Given the description of an element on the screen output the (x, y) to click on. 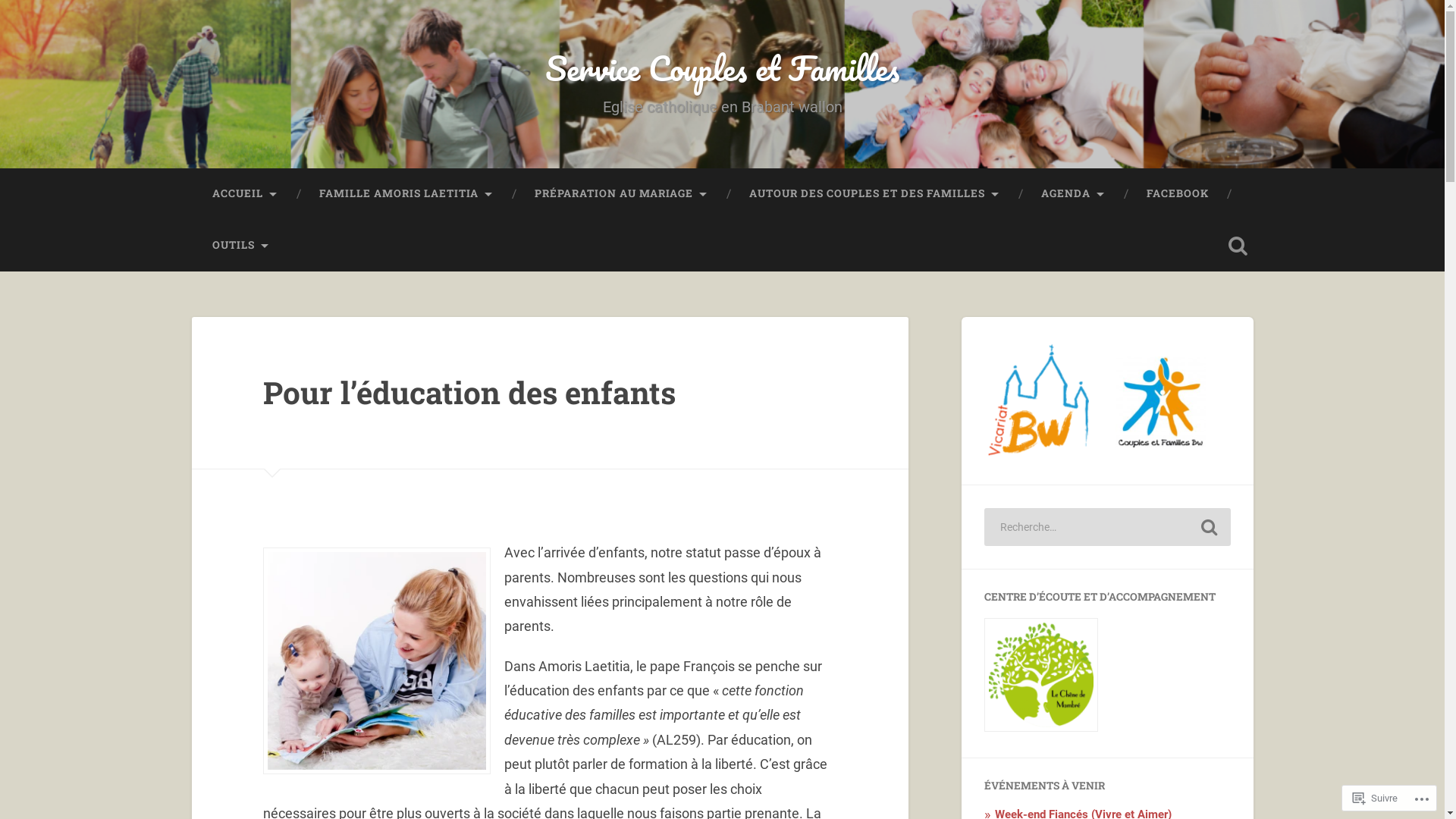
AGENDA Element type: text (1073, 193)
ACCUEIL Element type: text (244, 193)
FAMILLE AMORIS LAETITIA Element type: text (406, 193)
OUTILS Element type: text (240, 245)
Ouvrir la recherche Element type: text (1237, 245)
Rechercher Element type: text (1208, 526)
AUTOUR DES COUPLES ET DES FAMILLES Element type: text (873, 193)
FACEBOOK Element type: text (1176, 193)
Suivre Element type: text (1374, 797)
Service Couples et Familles Element type: text (722, 67)
